Given the description of an element on the screen output the (x, y) to click on. 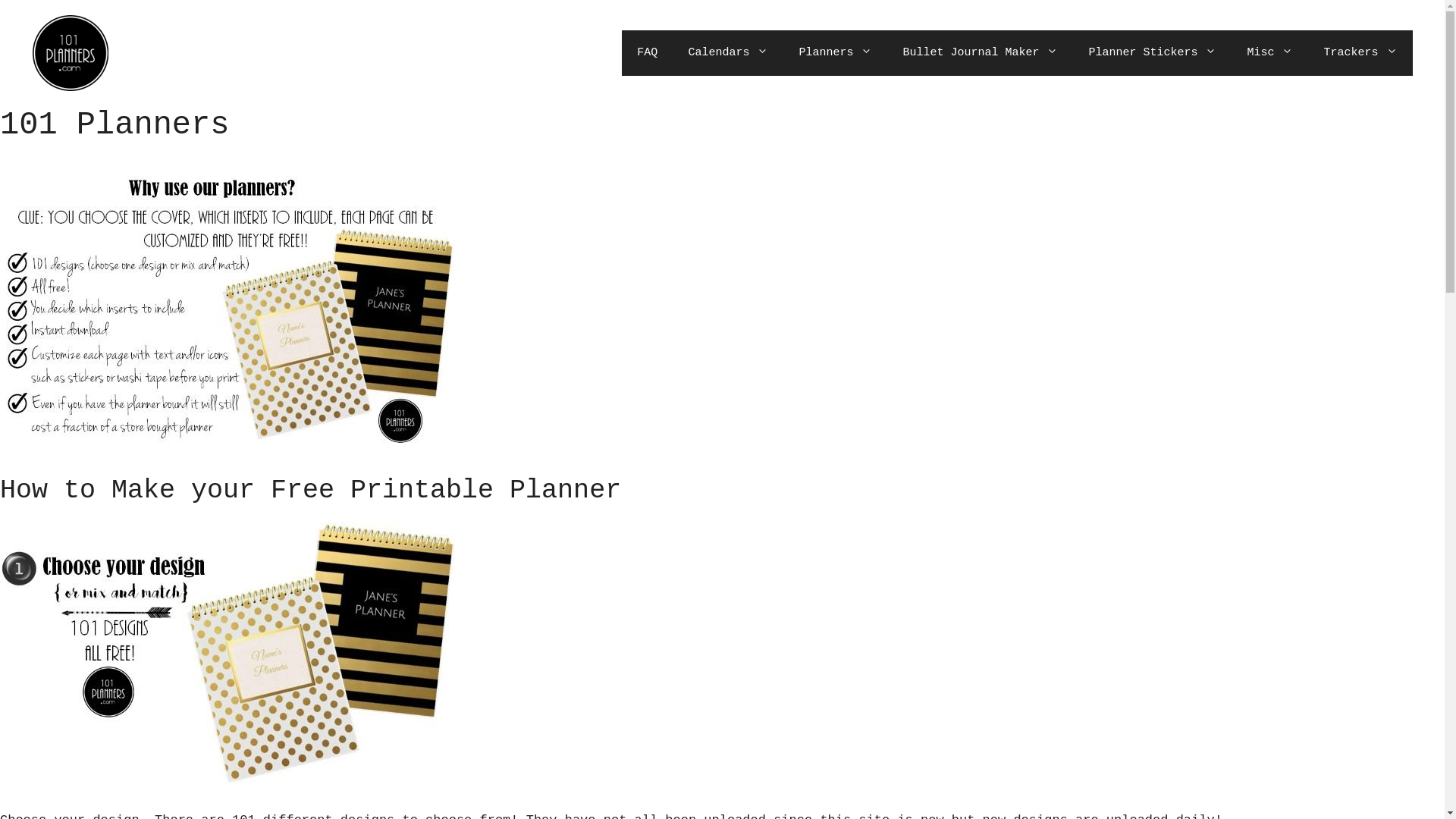
Trackers Element type: text (1360, 52)
Planners Element type: text (835, 52)
Bullet Journal Maker Element type: text (980, 52)
Calendars Element type: text (727, 52)
Planner Stickers Element type: text (1152, 52)
FAQ Element type: text (646, 52)
Misc Element type: text (1269, 52)
